Given the description of an element on the screen output the (x, y) to click on. 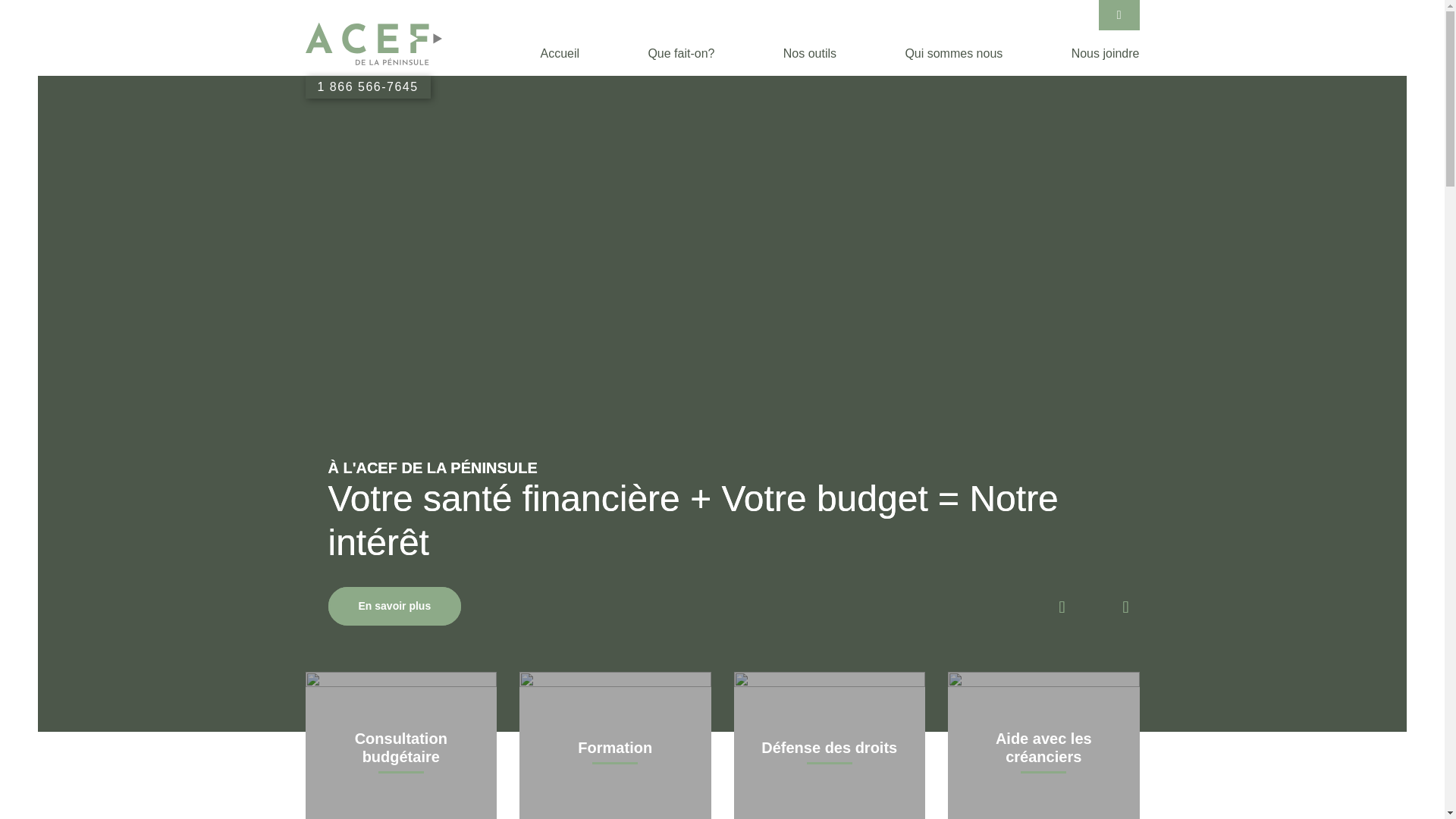
Qui sommes nous Element type: text (953, 52)
Que fait-on? Element type: text (680, 52)
Nos outils Element type: text (809, 52)
En savoir plus Element type: text (394, 605)
1 866 566-7645 Element type: text (366, 86)
Nous joindre Element type: text (1105, 52)
Accueil Element type: text (559, 52)
